Given the description of an element on the screen output the (x, y) to click on. 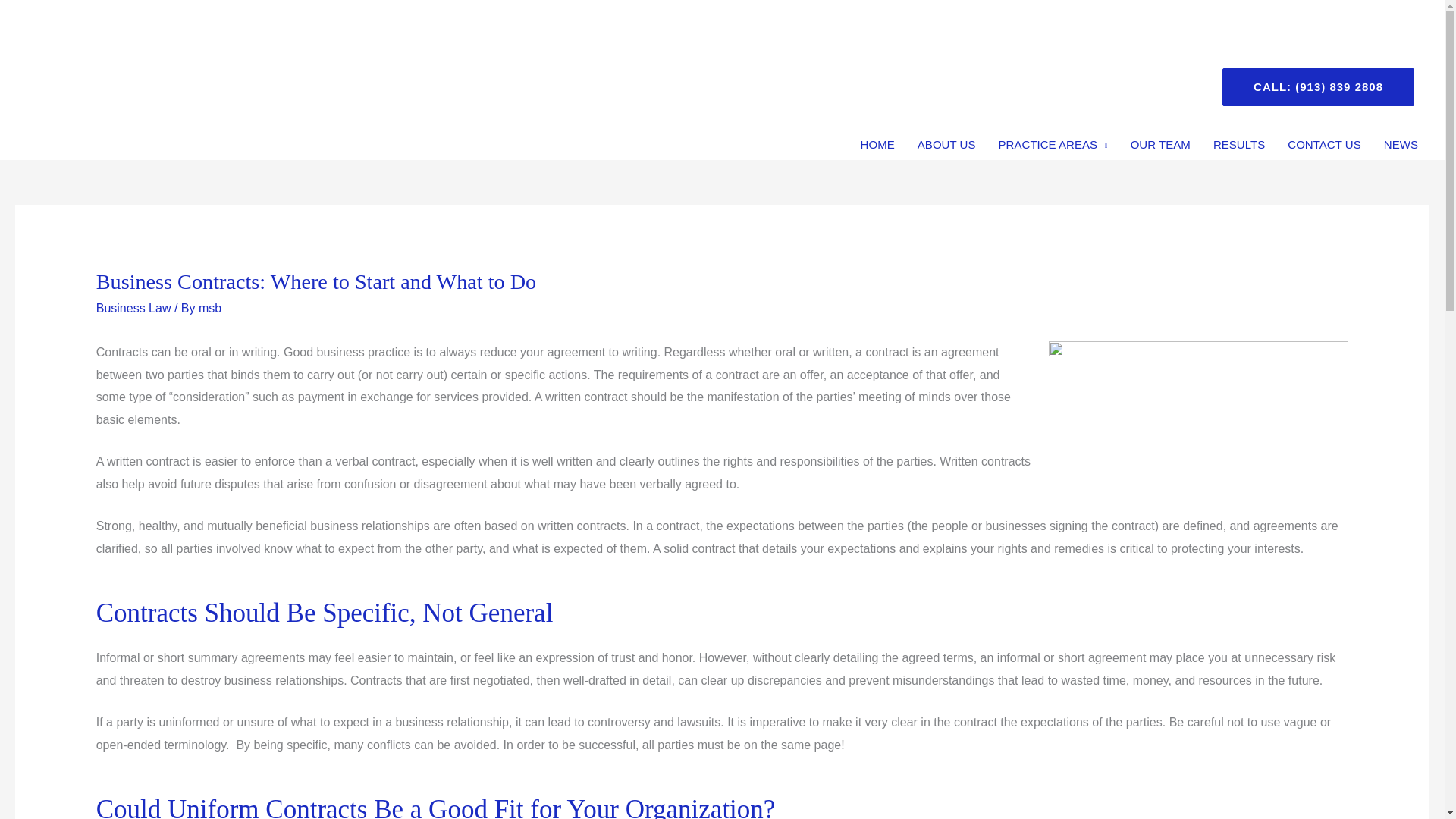
ABOUT US (946, 144)
View all posts by msb (209, 308)
OUR TEAM (1160, 144)
HOME (876, 144)
CONTACT US (1324, 144)
NEWS (1401, 144)
PRACTICE AREAS (1053, 144)
RESULTS (1239, 144)
